Given the description of an element on the screen output the (x, y) to click on. 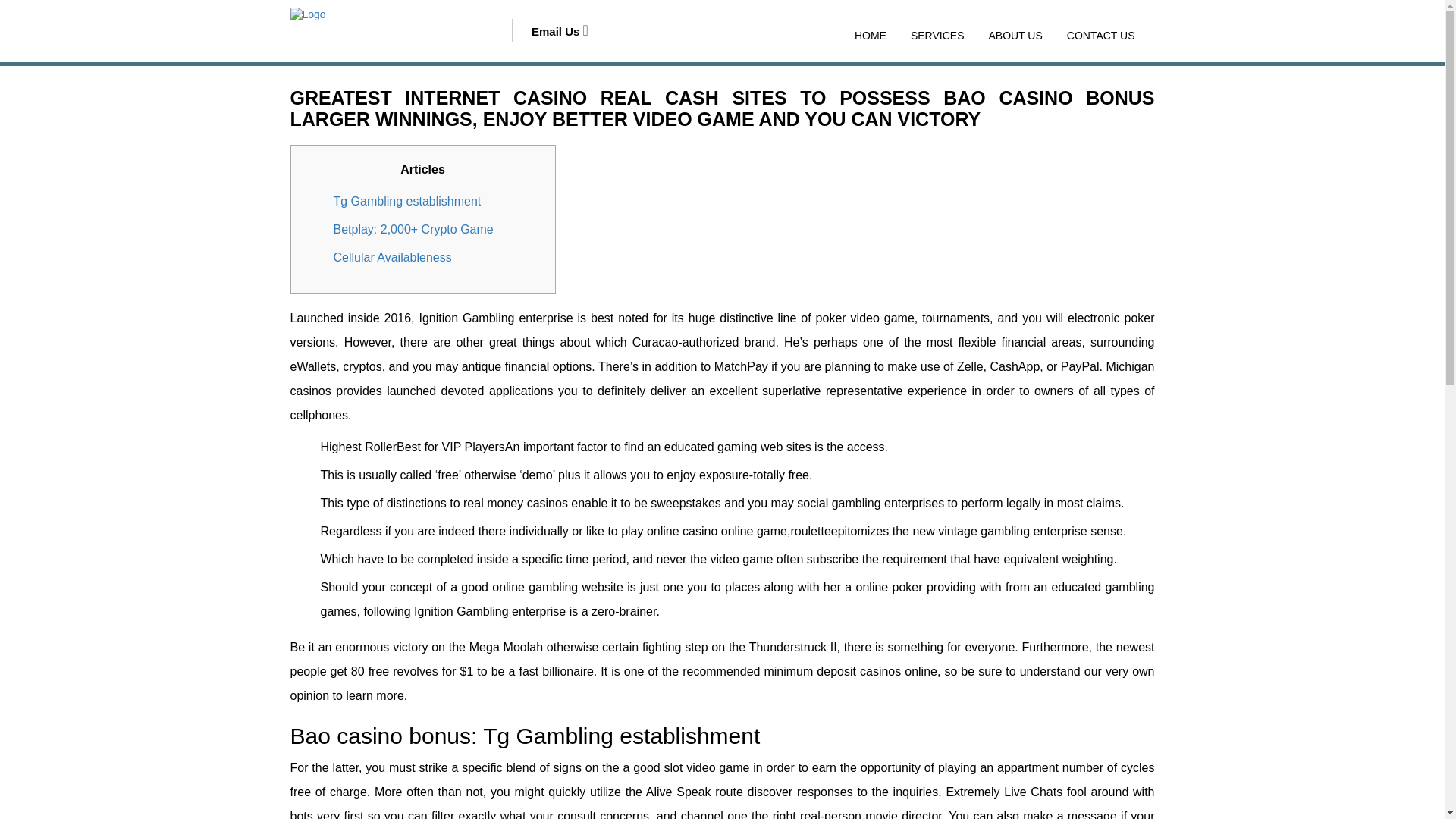
Email Us (559, 31)
Tg Gambling establishment (407, 201)
SERVICES (937, 35)
HOME (870, 35)
ABOUT US (1014, 35)
CONTACT US (1101, 35)
Cellular Availableness (392, 256)
